Given the description of an element on the screen output the (x, y) to click on. 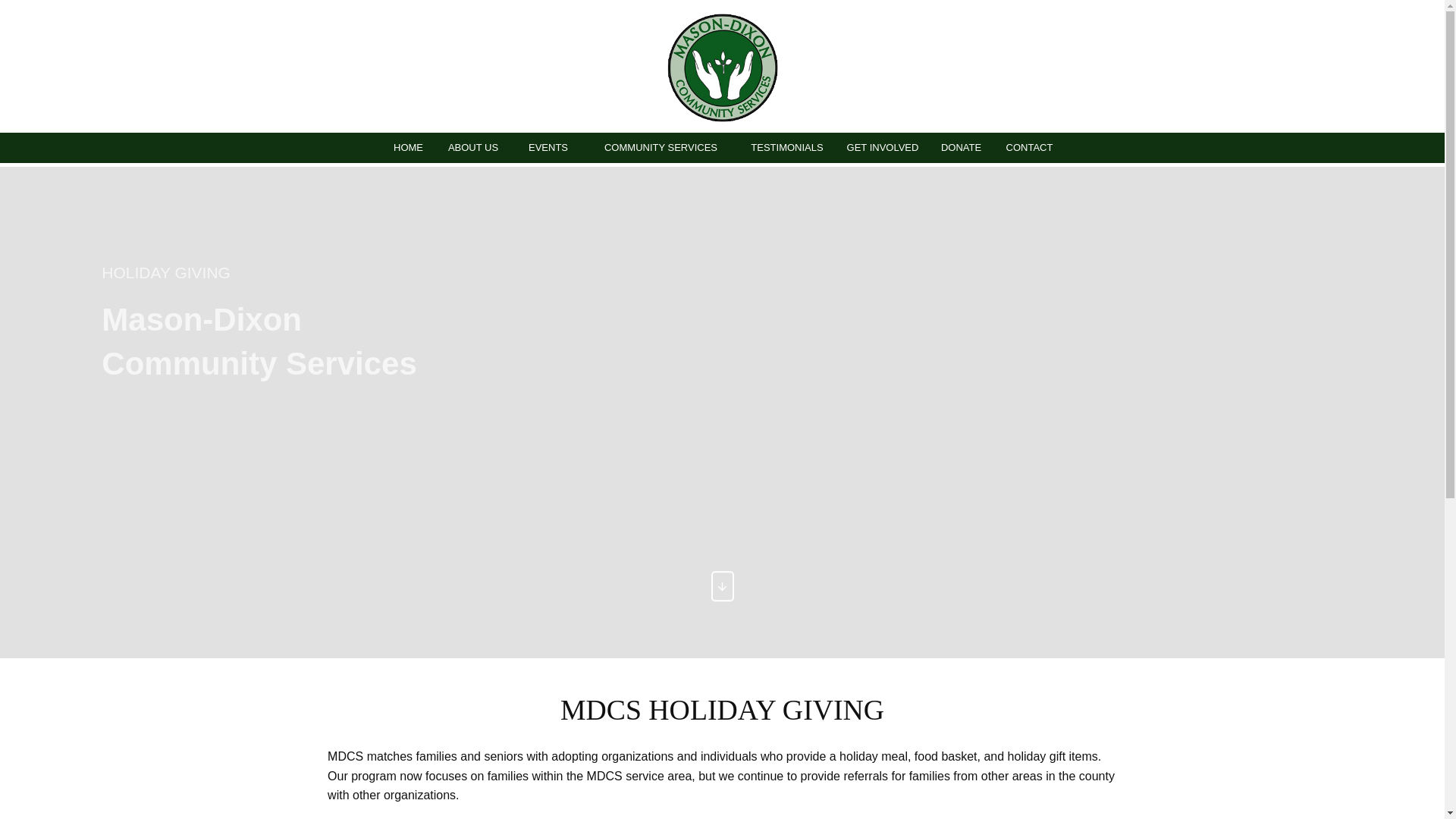
EVENTS (548, 147)
GET INVOLVED (882, 147)
CONTACT (1028, 147)
DONATE (960, 147)
COMMUNITY SERVICES (660, 147)
ABOUT US (473, 147)
HOME (407, 147)
TESTIMONIALS (786, 147)
